Given the description of an element on the screen output the (x, y) to click on. 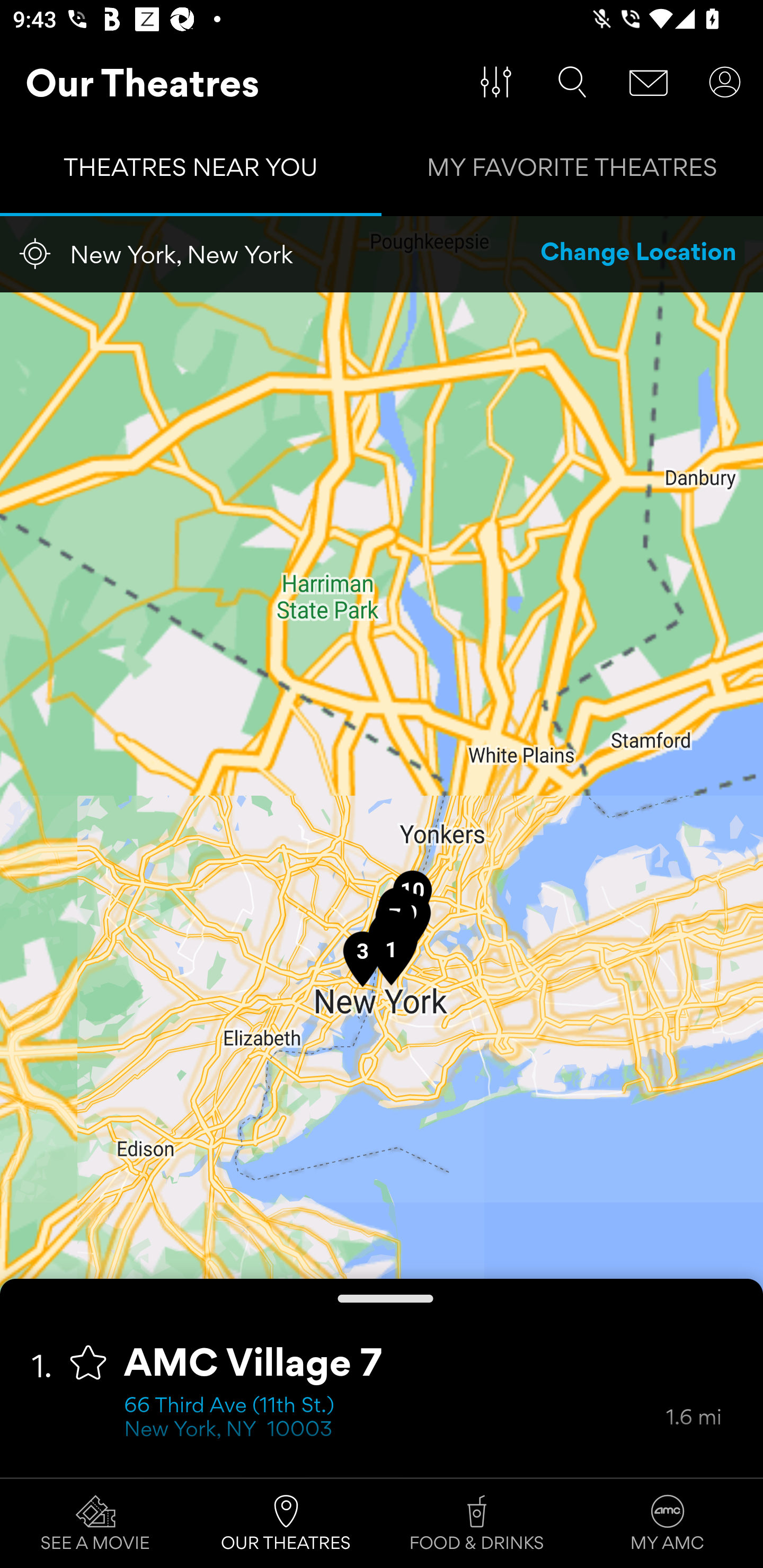
Filter Theatres (495, 82)
Search (572, 82)
Message Center (648, 82)
User Account (724, 82)
THEATRES NEAR YOU
Tab 1 of 2 (190, 171)
MY FAVORITE THEATRES
Tab 2 of 2 (572, 171)
Change Location (639, 253)
66 Third Ave (11th St.)  
New York, NY  10003 (394, 1418)
SEE A MOVIE
Tab 1 of 4 (95, 1523)
OUR THEATRES
Tab 2 of 4 (285, 1523)
FOOD & DRINKS
Tab 3 of 4 (476, 1523)
MY AMC
Tab 4 of 4 (667, 1523)
